Given the description of an element on the screen output the (x, y) to click on. 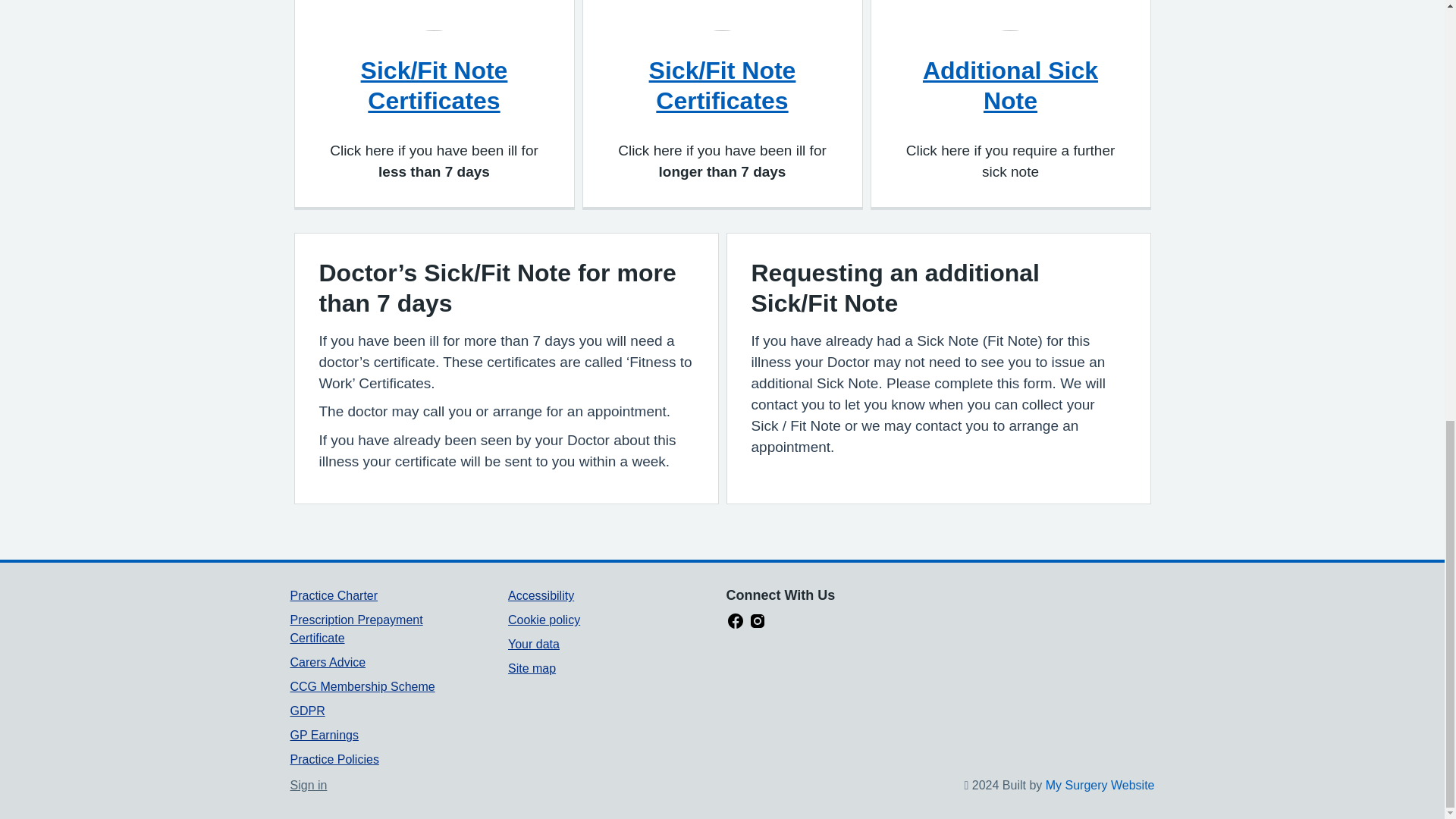
Additional Sick Note (1010, 85)
Accessibility (540, 594)
Your data (533, 644)
Prescription Prepayment Certificate (355, 628)
Carers Advice (327, 662)
CCG Membership Scheme (361, 686)
Practice Charter (333, 594)
Practice Policies (333, 758)
GDPR (306, 710)
GP Earnings (323, 735)
Cookie policy (543, 619)
